Given the description of an element on the screen output the (x, y) to click on. 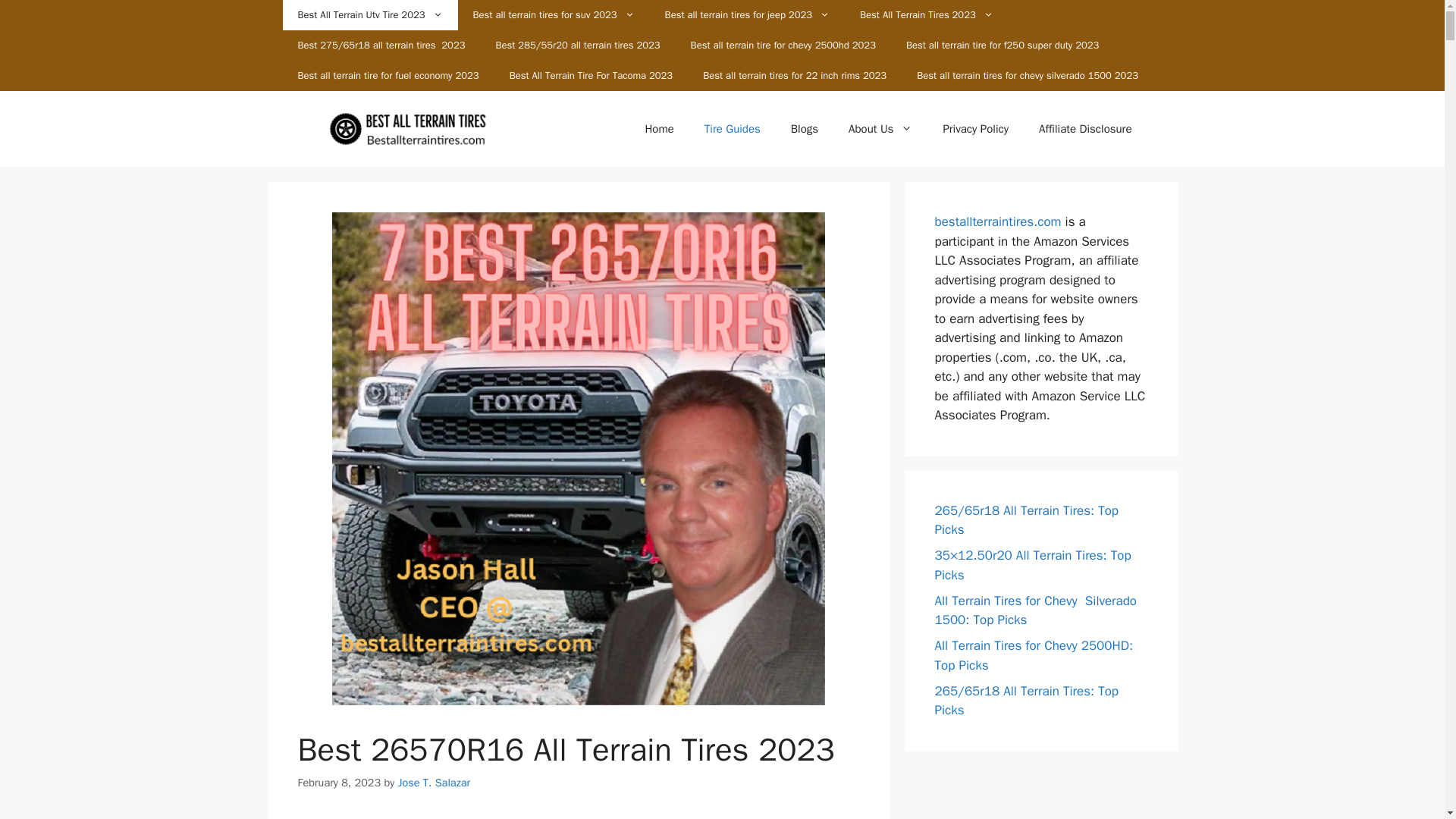
Best all terrain tires for suv 2023 (553, 15)
Best All Terrain Tires 2023 (926, 15)
Best All Terrain Utv Tire 2023 (369, 15)
Best all terrain tires for jeep 2023 (746, 15)
View all posts by Jose T. Salazar (433, 782)
Best all terrain tire for chevy 2500hd 2023 (783, 45)
